Given the description of an element on the screen output the (x, y) to click on. 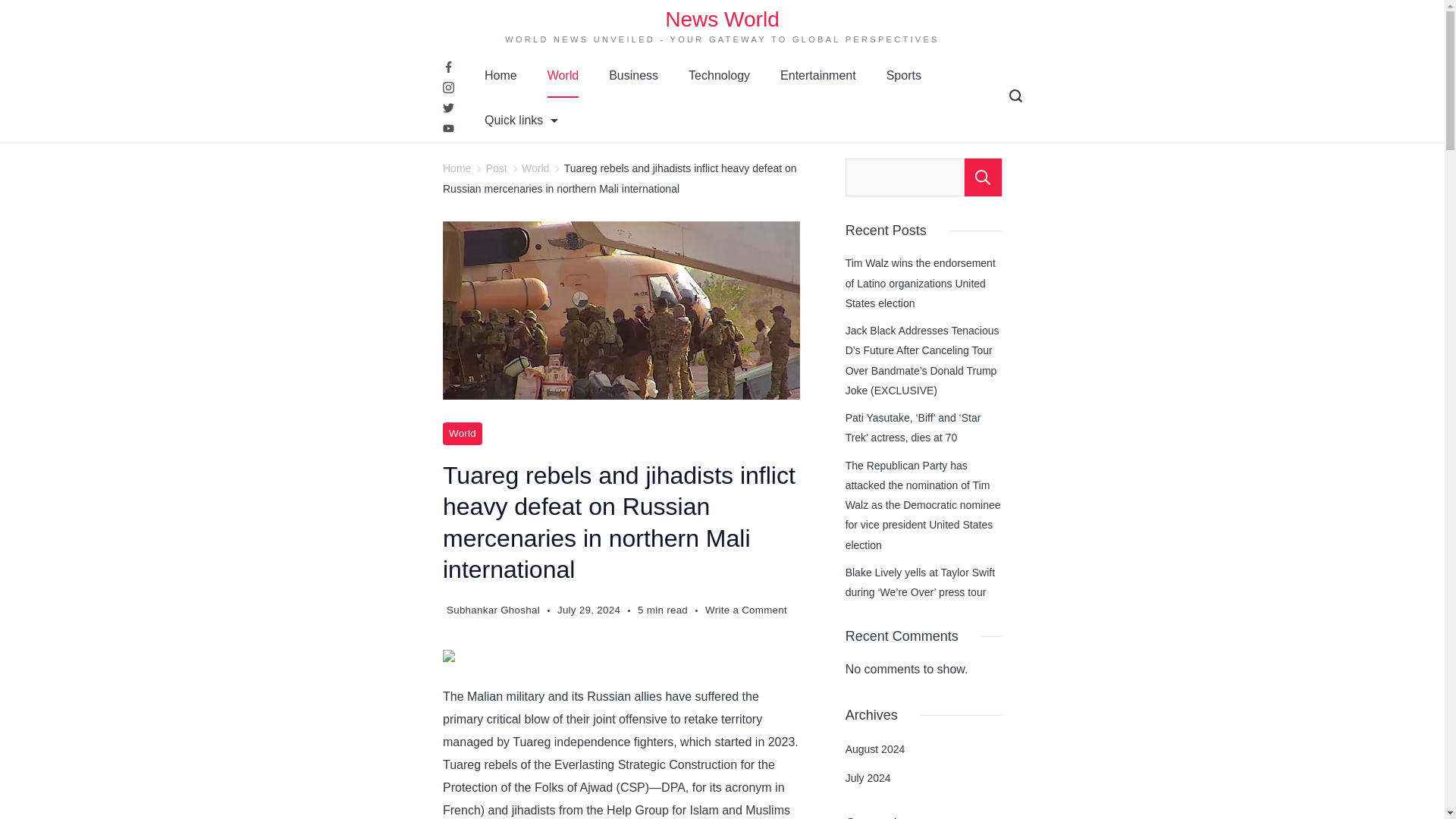
Quick links (520, 119)
World (563, 75)
Home (500, 75)
Sports (903, 75)
News World (721, 19)
Technology (718, 75)
Entertainment (817, 75)
Business (633, 75)
